Given the description of an element on the screen output the (x, y) to click on. 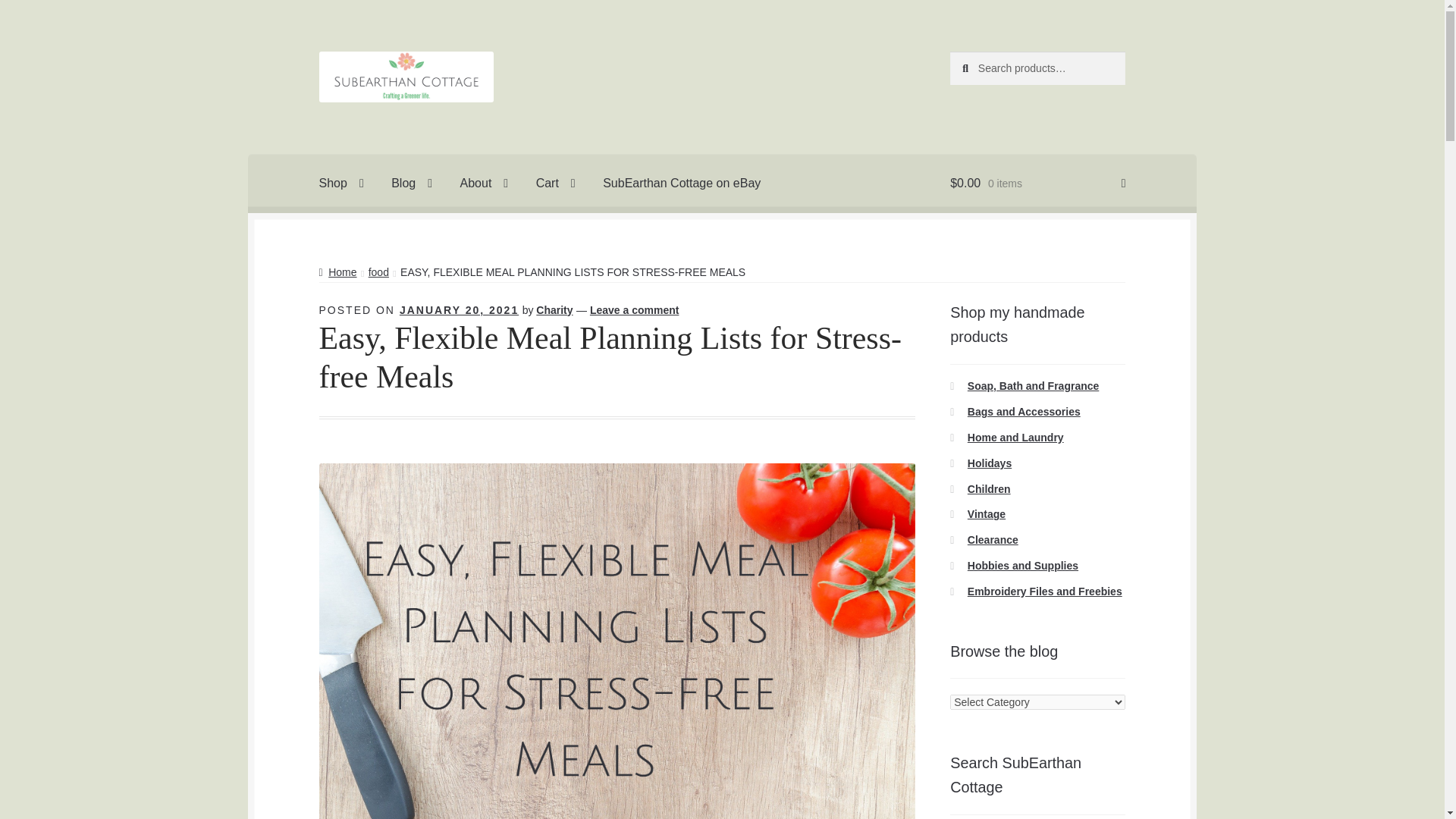
Cart (556, 182)
Blog (411, 182)
View your shopping cart (1037, 182)
SubEarthan Cottage on eBay (682, 182)
Shop (341, 182)
About (484, 182)
